Given the description of an element on the screen output the (x, y) to click on. 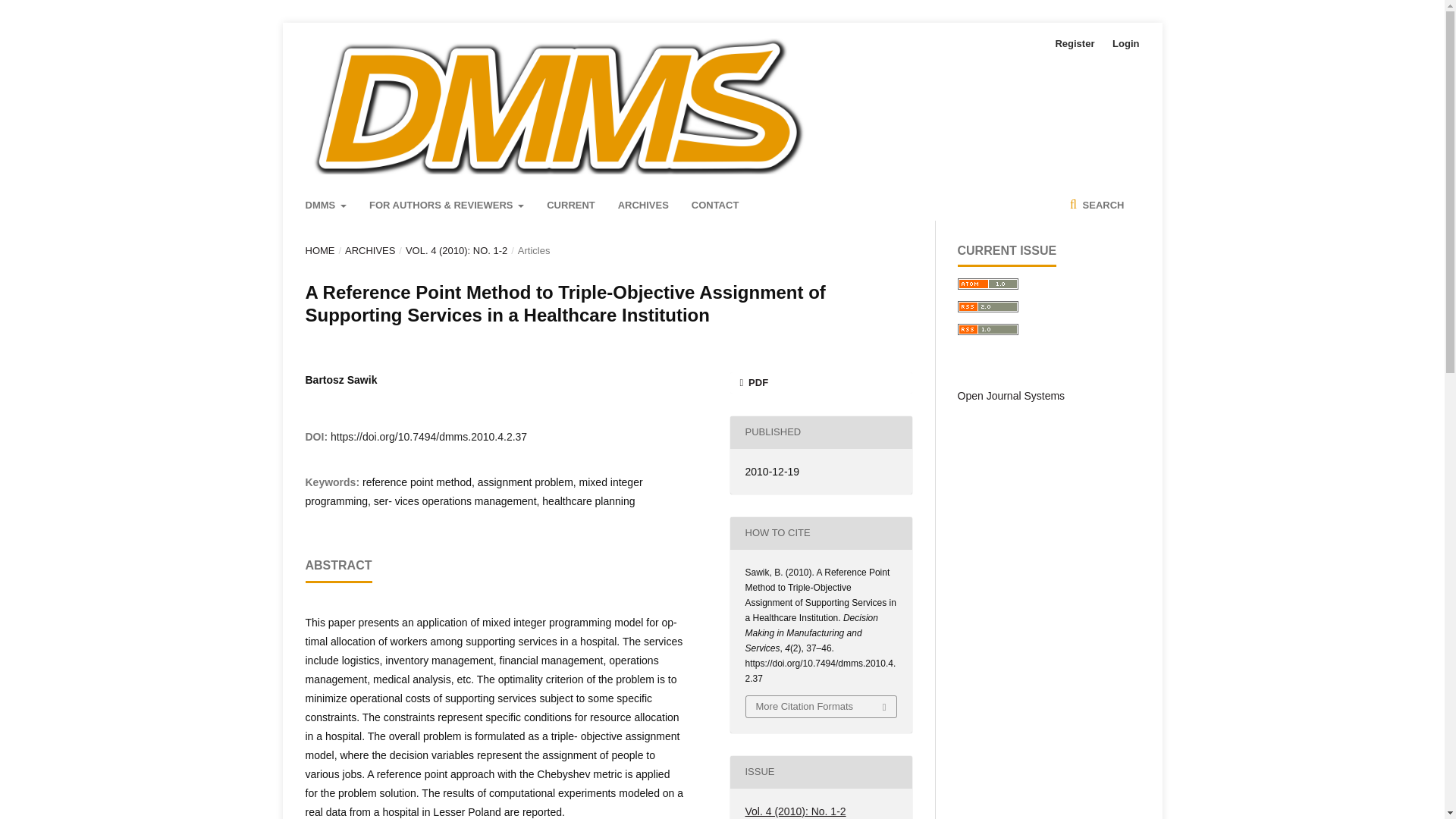
HOME (319, 250)
More Citation Formats (820, 706)
ARCHIVES (369, 250)
Register (1074, 43)
CURRENT (571, 205)
CONTACT (715, 205)
Login (1121, 43)
ARCHIVES (642, 205)
SEARCH (1096, 205)
PDF (820, 382)
